Given the description of an element on the screen output the (x, y) to click on. 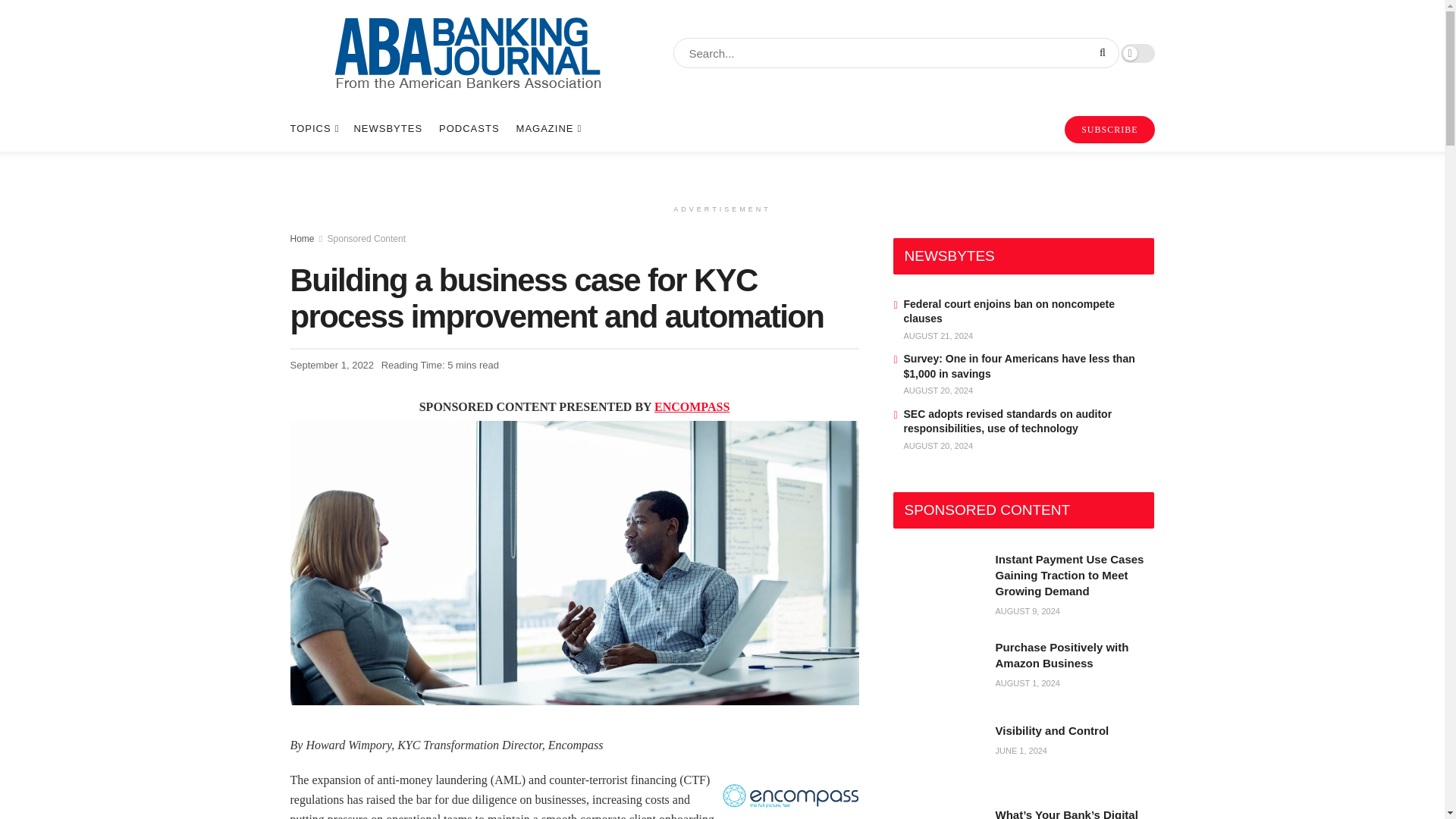
TOPICS (312, 128)
PODCASTS (469, 128)
NEWSBYTES (387, 128)
MAGAZINE (547, 128)
SUBSCRIBE (1109, 129)
